Given the description of an element on the screen output the (x, y) to click on. 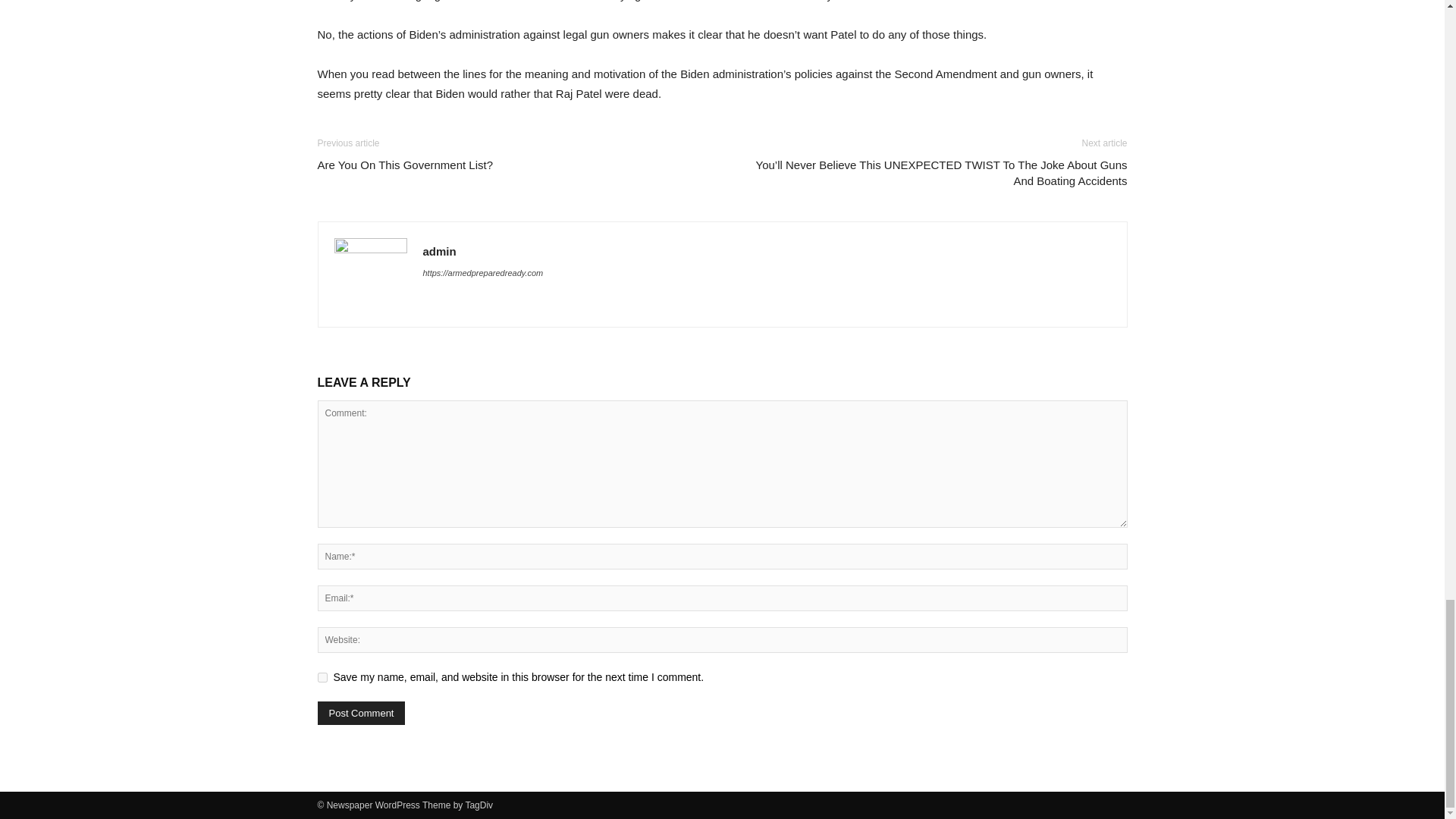
Post Comment (360, 712)
Post Comment (360, 712)
Are You On This Government List? (405, 164)
yes (321, 677)
admin (440, 250)
